Given the description of an element on the screen output the (x, y) to click on. 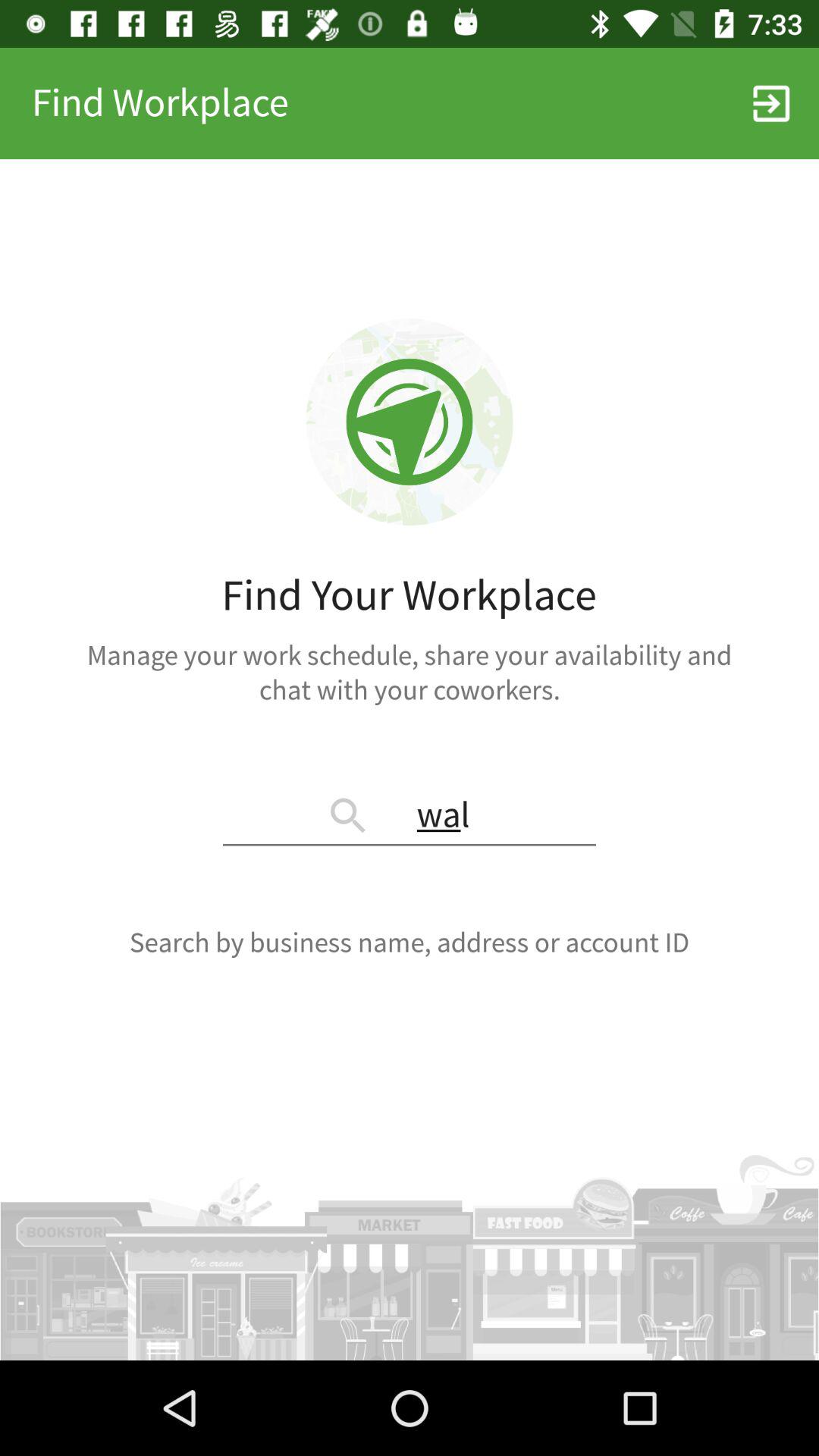
press the wal icon (409, 816)
